Given the description of an element on the screen output the (x, y) to click on. 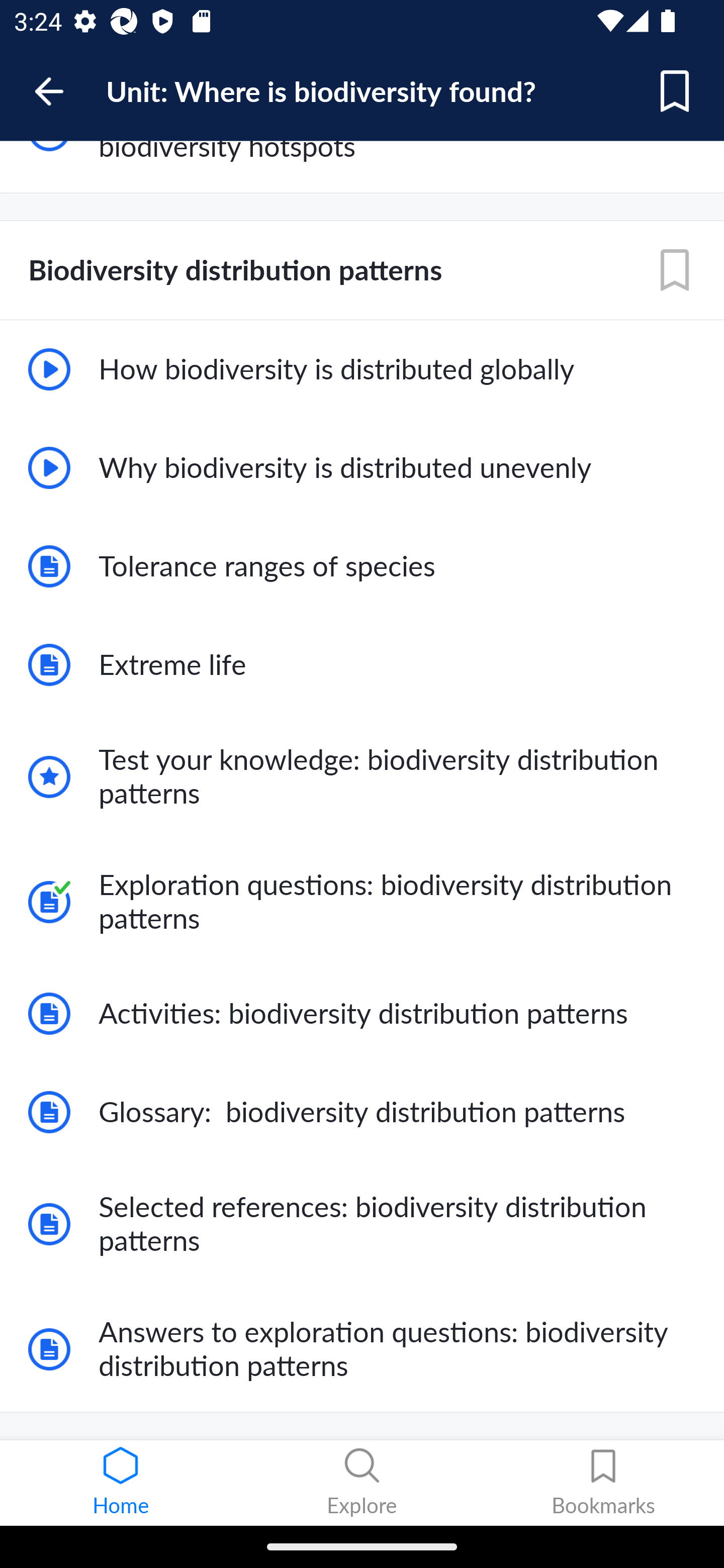
Back (58, 91)
Add Bookmark (674, 91)
Add Bookmark (674, 270)
How biodiversity is distributed globally (362, 368)
Why biodiversity is distributed unevenly (362, 467)
Tolerance ranges of species (362, 566)
Extreme life (362, 664)
Activities: biodiversity distribution patterns (362, 1013)
Glossary:  biodiversity distribution patterns (362, 1112)
Home (120, 1482)
Explore (361, 1482)
Bookmarks (603, 1482)
